Given the description of an element on the screen output the (x, y) to click on. 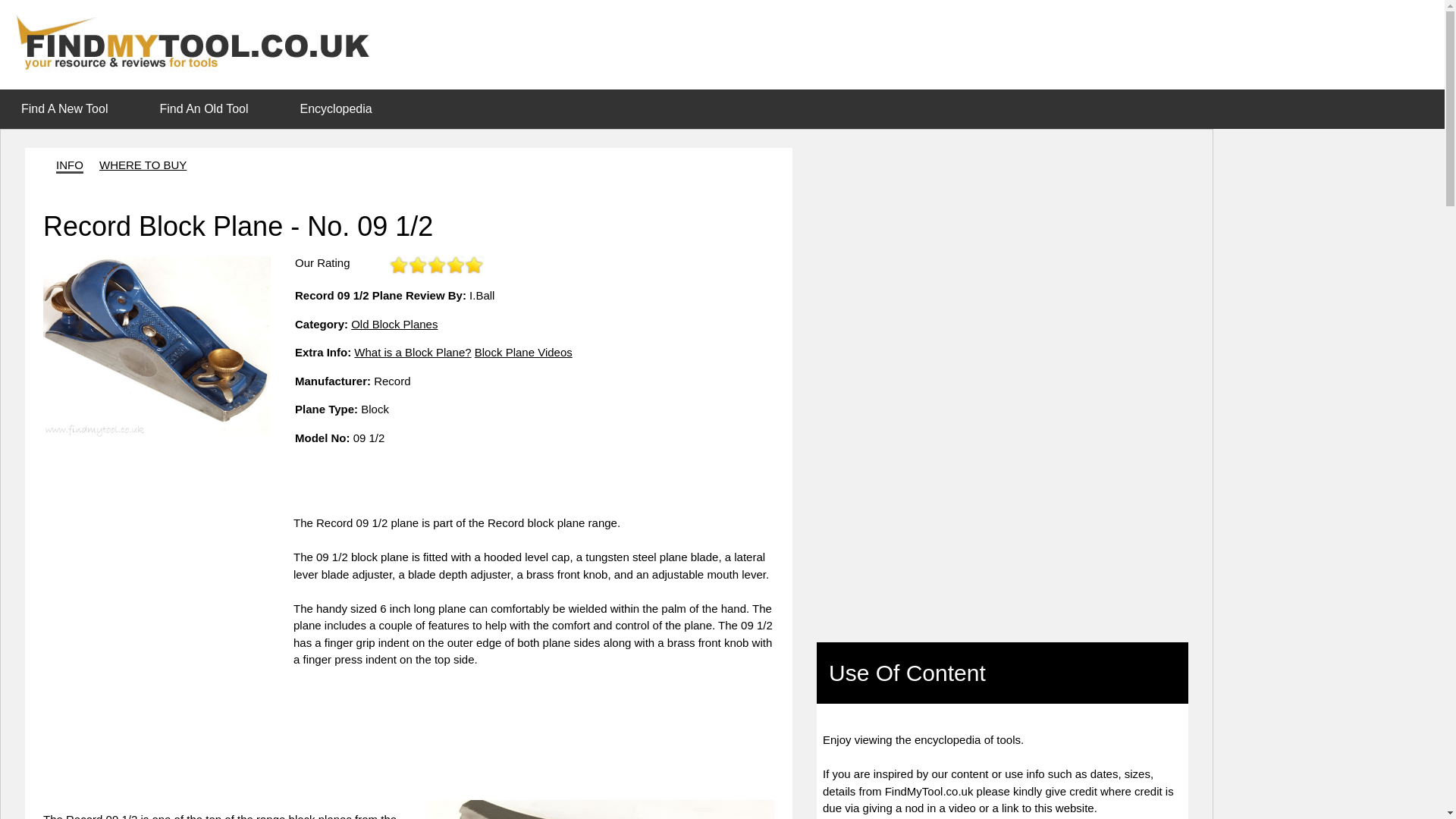
Find An Old Tool (208, 108)
Find A New Tool (69, 108)
find my tool (199, 42)
Find A New Tool (63, 109)
Find An Old Tool (203, 109)
find a new tool (63, 109)
